Given the description of an element on the screen output the (x, y) to click on. 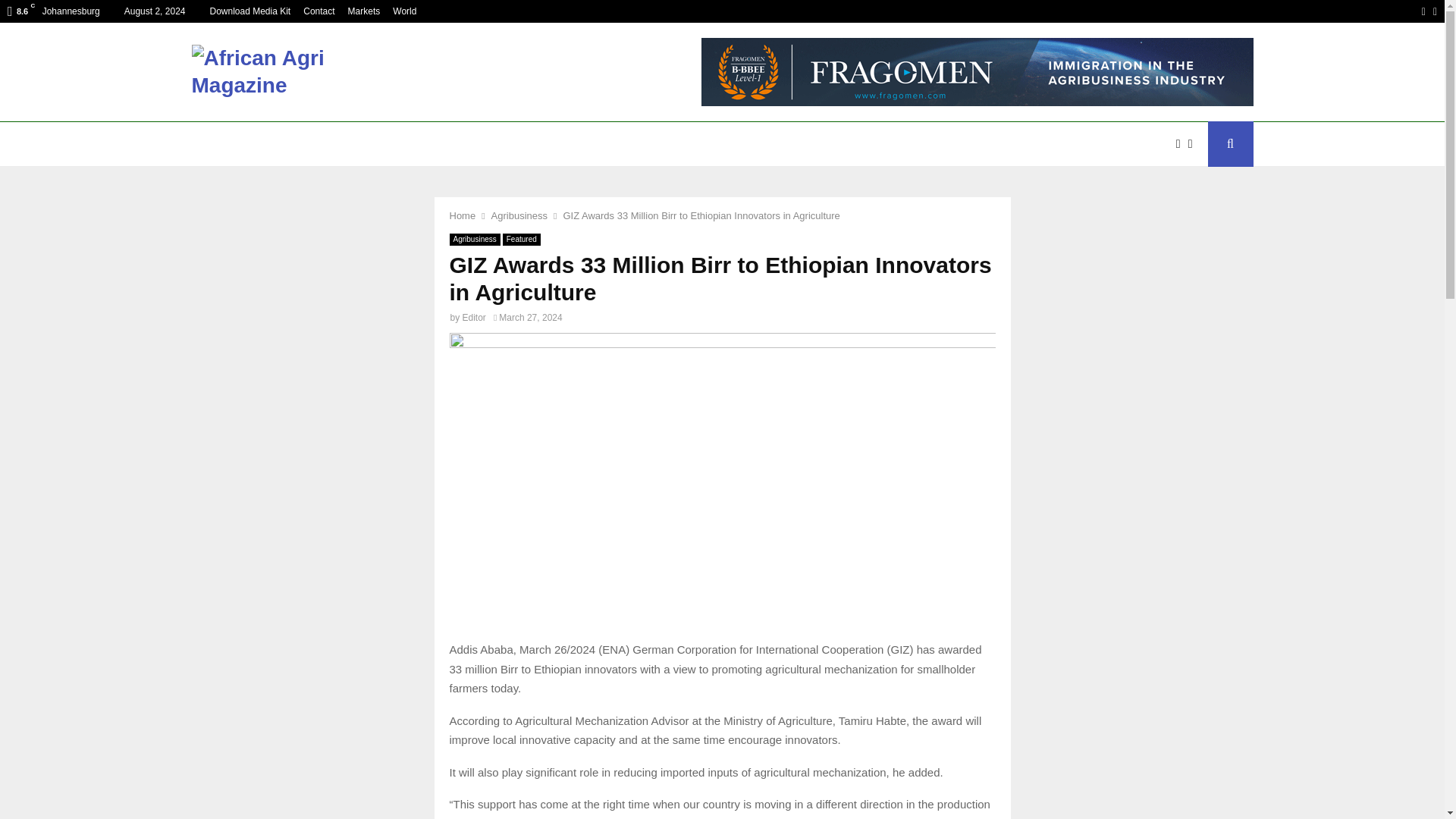
POULTRY (668, 144)
HOME (220, 144)
MACHINERY AND EQUIPMENT (449, 144)
IRRIGATION (585, 144)
LIVESTOCK (750, 144)
Home (462, 215)
FOOD PROCESSING (969, 144)
Editor (474, 317)
World (404, 11)
AQUACULTURE (849, 144)
